Given the description of an element on the screen output the (x, y) to click on. 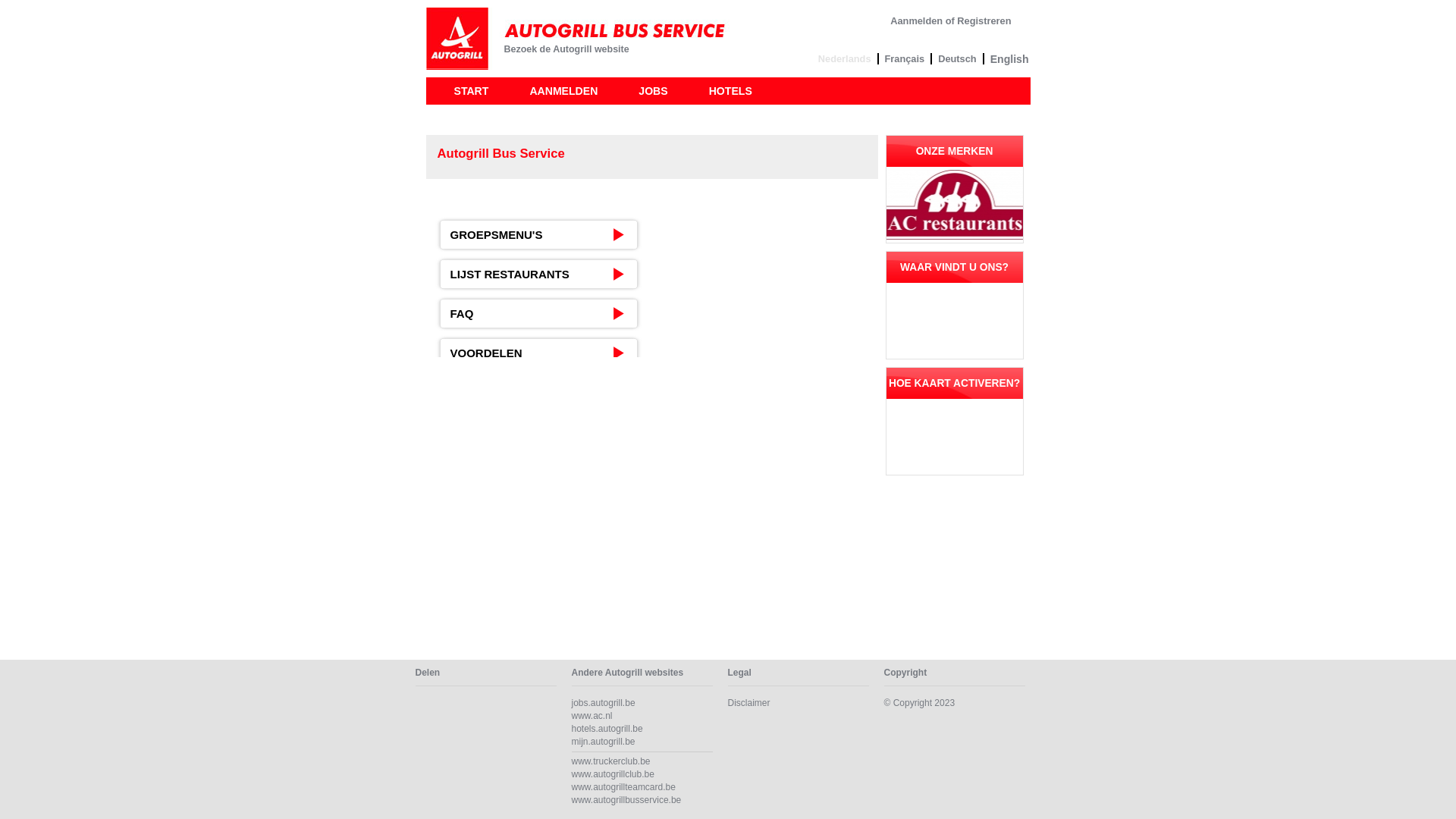
mijn.autogrill.be Element type: text (603, 741)
GROEPSMENU'S Element type: text (538, 234)
LIJST RESTAURANTS Element type: text (538, 273)
FAQ Element type: text (538, 313)
Autogrill ID Element type: text (578, 38)
www.autogrillteamcard.be Element type: text (623, 786)
www.autogrillclub.be Element type: text (612, 773)
Aanmelden of Registreren Element type: text (950, 20)
VOORDELEN Element type: text (538, 352)
Bezoek de Autogrill website Element type: text (565, 48)
AANMELDEN Element type: text (562, 90)
Disclaimer Element type: text (749, 702)
www.truckerclub.be Element type: text (610, 761)
hotels.autogrill.be Element type: text (607, 728)
JOBS Element type: text (652, 90)
www.ac.nl Element type: text (591, 715)
WAAR VINDT U ONS? Element type: text (954, 267)
www.autogrillbusservice.be Element type: text (626, 799)
Nederlands Element type: text (844, 58)
HOTELS Element type: text (730, 90)
Deutsch Element type: text (957, 58)
START Element type: text (471, 90)
HOE KAART ACTIVEREN? Element type: text (953, 383)
jobs.autogrill.be Element type: text (603, 702)
English Element type: text (1009, 59)
